Given the description of an element on the screen output the (x, y) to click on. 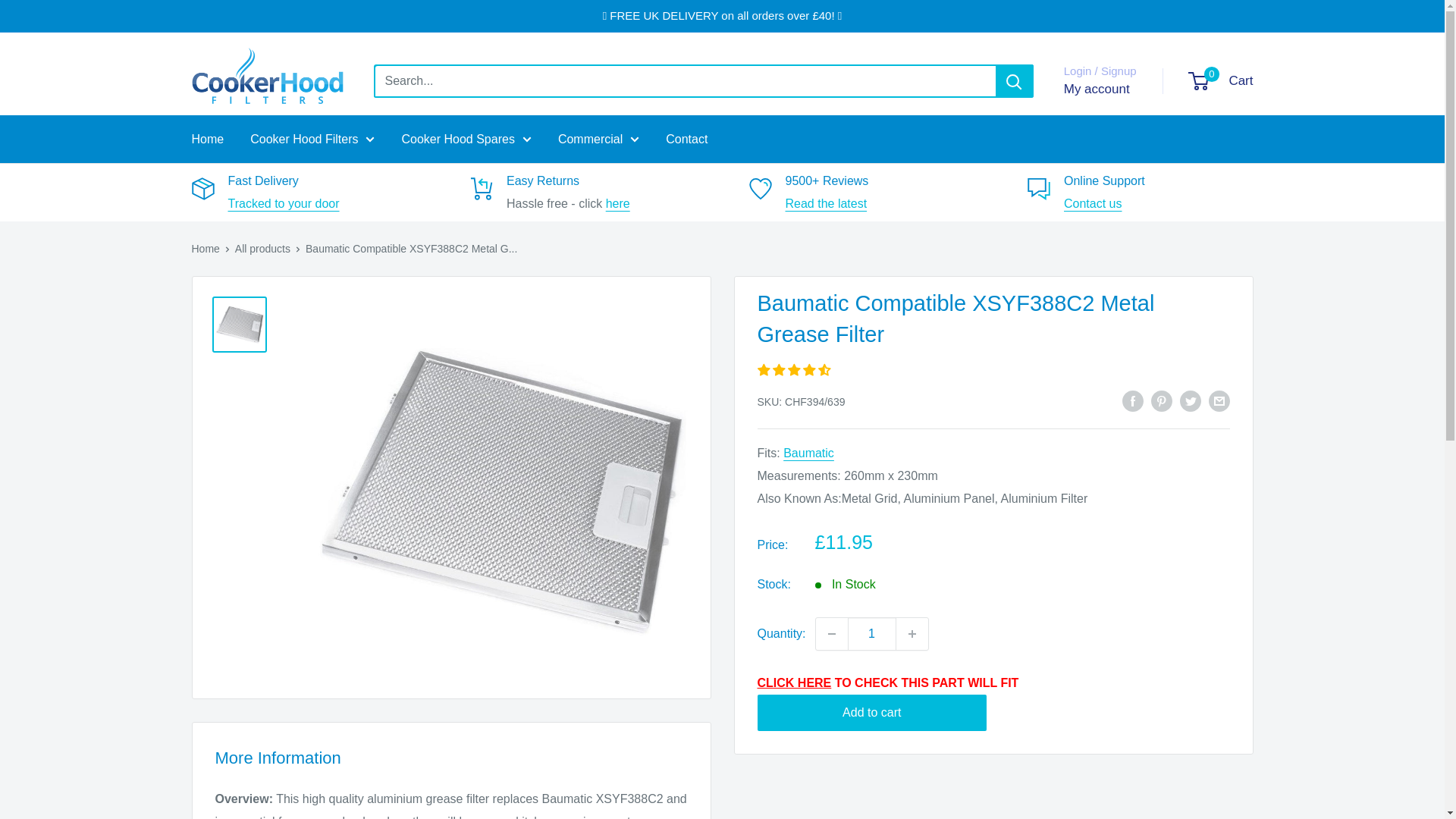
Increase quantity by 1 (912, 634)
Contact Us (1092, 203)
Store Reviews (826, 203)
1 (871, 634)
Shipping Policy (283, 203)
Decrease quantity by 1 (831, 634)
Refund Policy (617, 203)
Baumatic (808, 452)
